Given the description of an element on the screen output the (x, y) to click on. 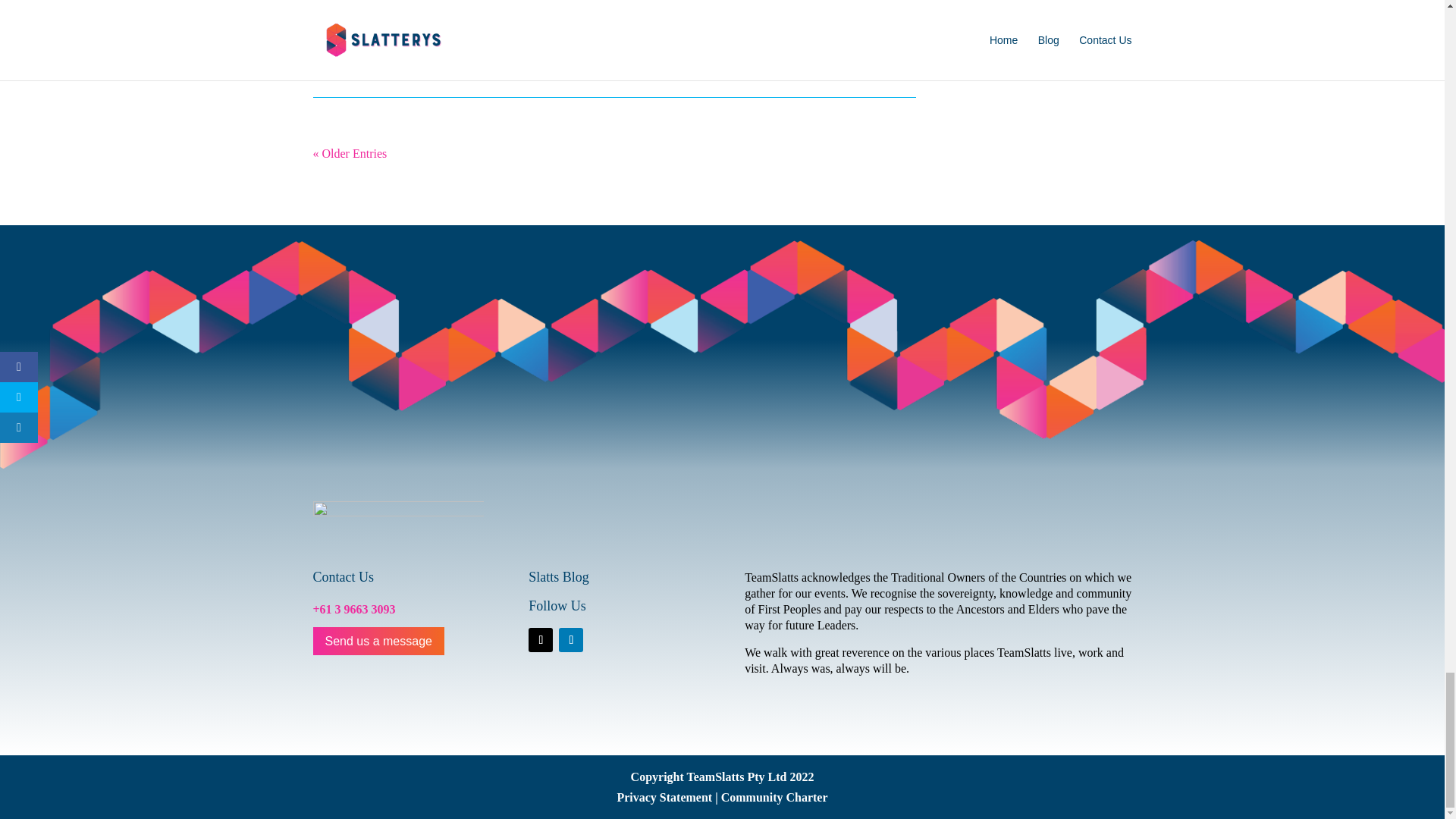
Follow on X (540, 639)
Follow on LinkedIn (571, 639)
